Given the description of an element on the screen output the (x, y) to click on. 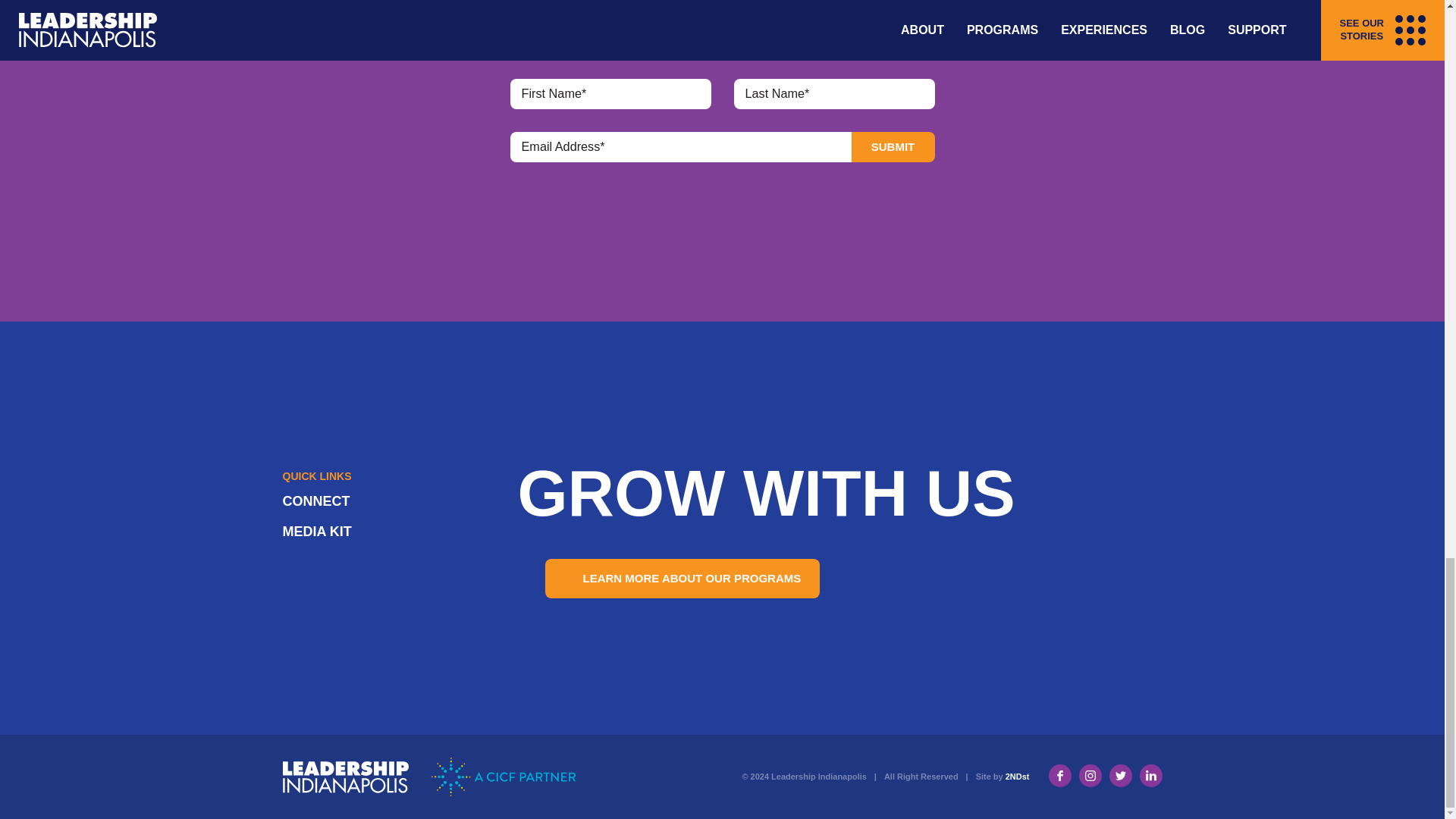
LEARN MORE ABOUT OUR PROGRAMS (681, 578)
Submit (892, 146)
Submit (892, 146)
CONNECT (315, 500)
